Given the description of an element on the screen output the (x, y) to click on. 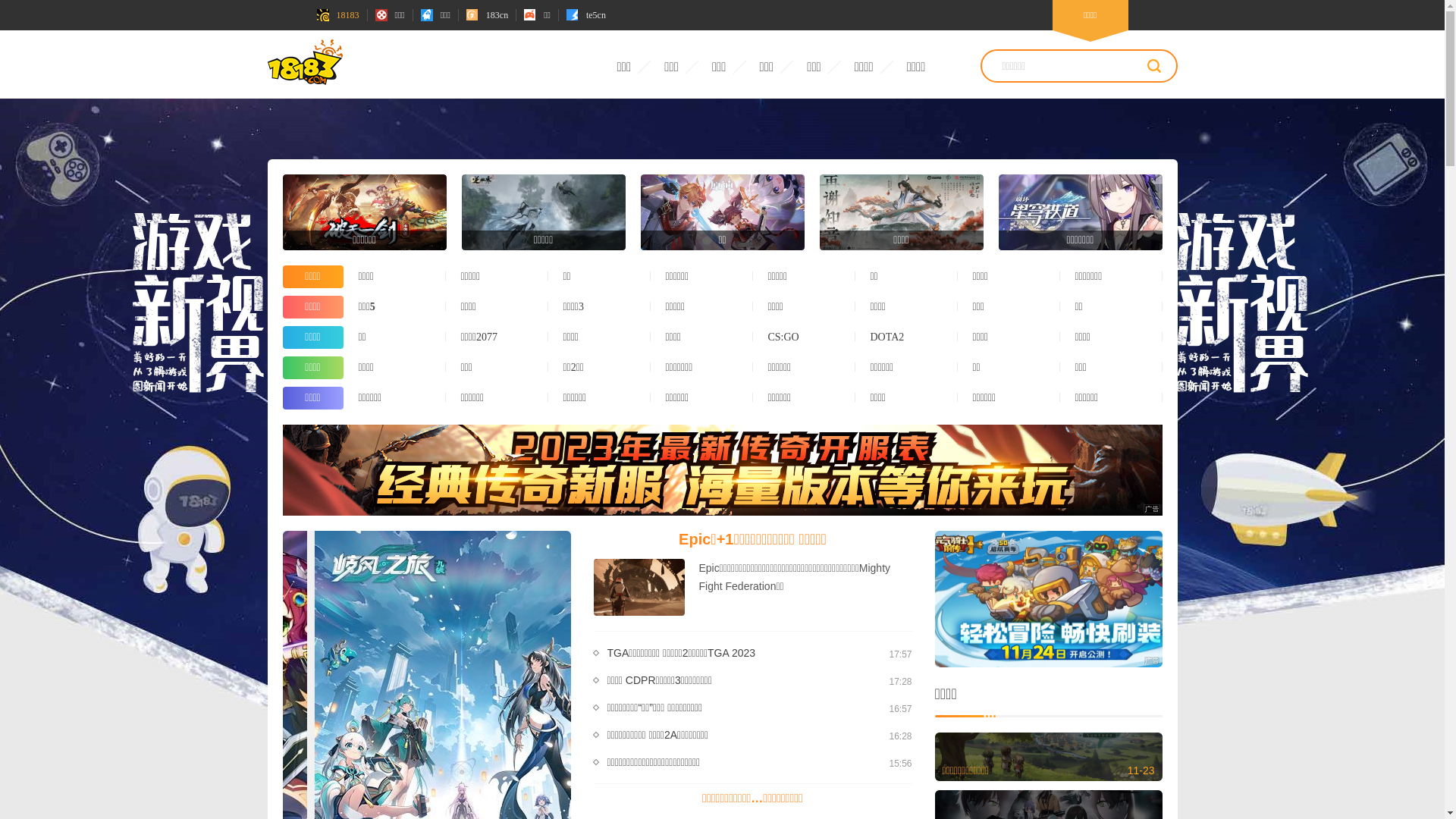
183cn Element type: text (487, 14)
te5cn Element type: text (585, 14)
CS:GO Element type: text (803, 337)
18183 Element type: text (337, 14)
DOTA2 Element type: text (906, 337)
